Given the description of an element on the screen output the (x, y) to click on. 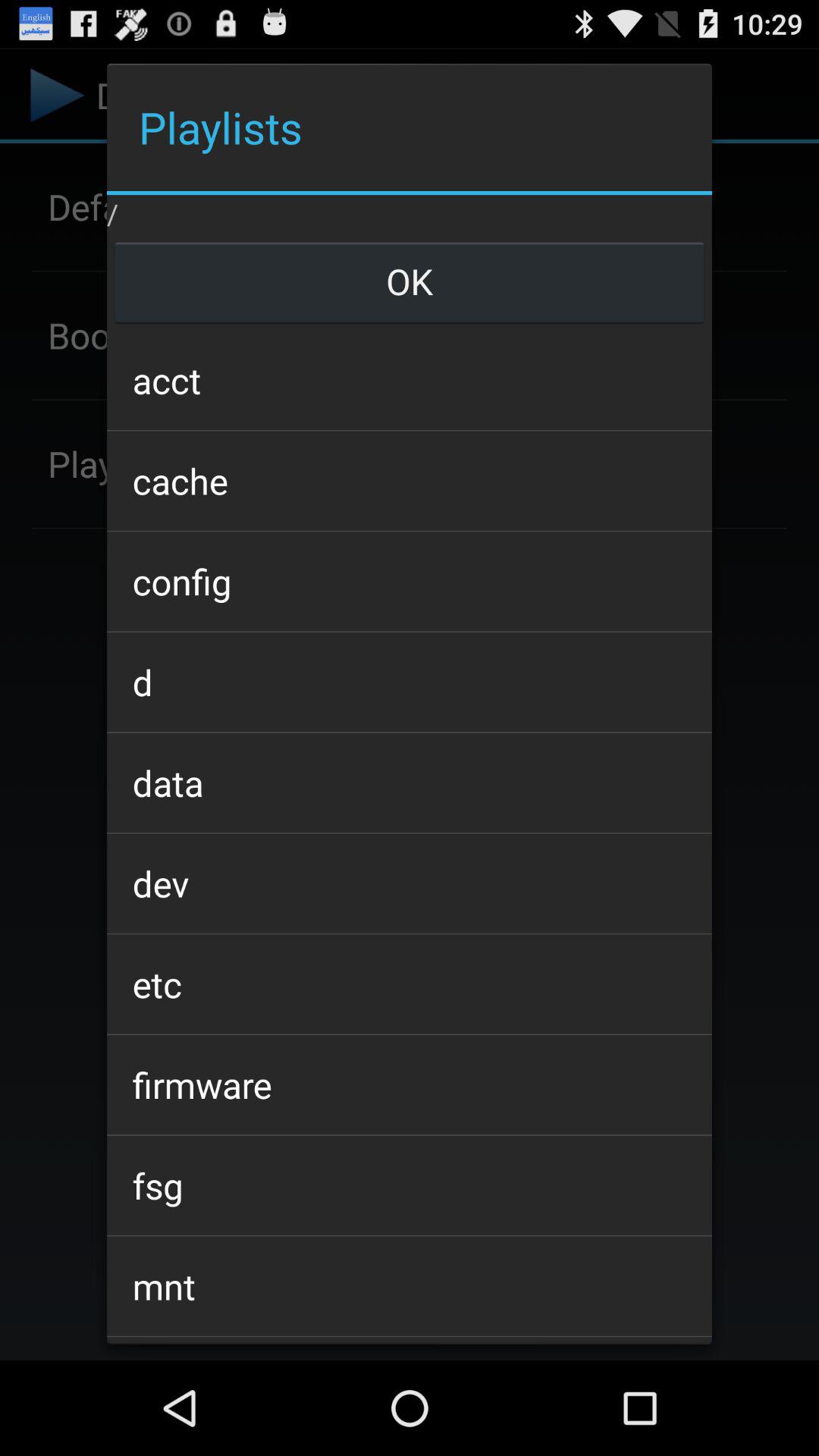
open app above fsg item (409, 1084)
